Given the description of an element on the screen output the (x, y) to click on. 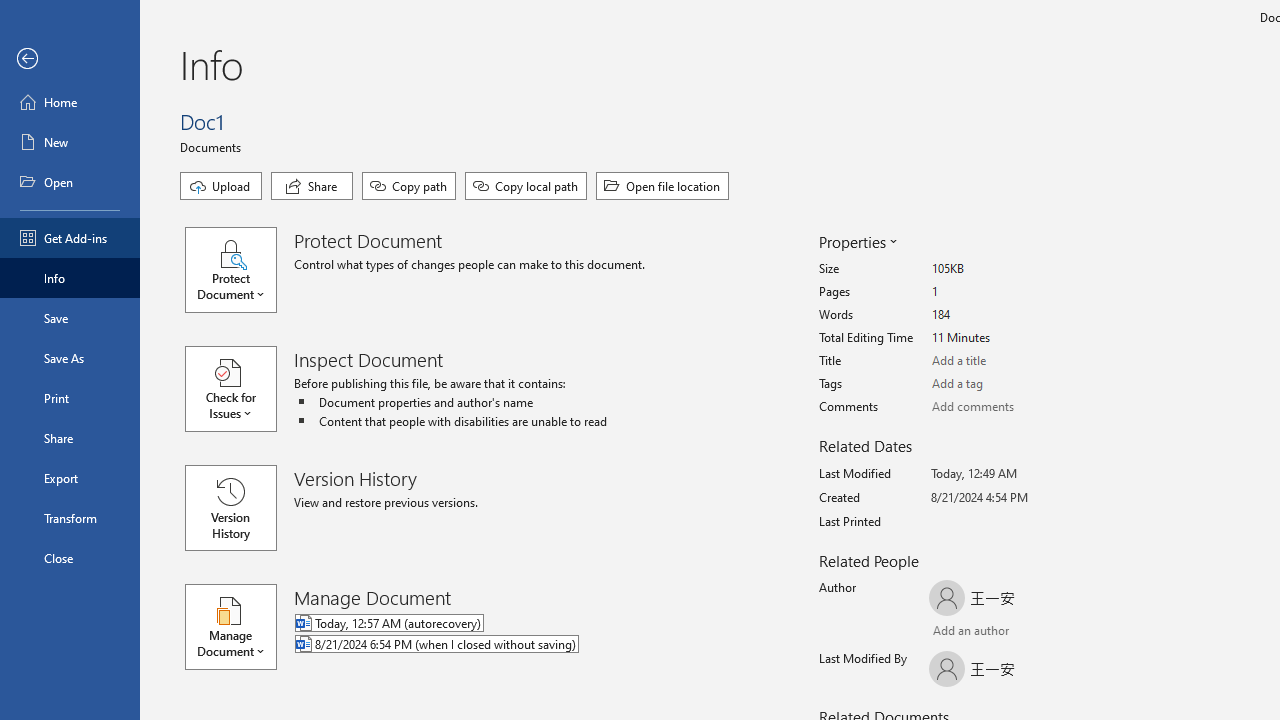
Print (69, 398)
Info (69, 277)
New (69, 141)
Get Add-ins (69, 237)
Save As (69, 357)
Manage Document (239, 626)
Protect Document (239, 269)
Words (1006, 315)
Upload (221, 186)
Add an author (949, 632)
Copy local path (525, 186)
